Given the description of an element on the screen output the (x, y) to click on. 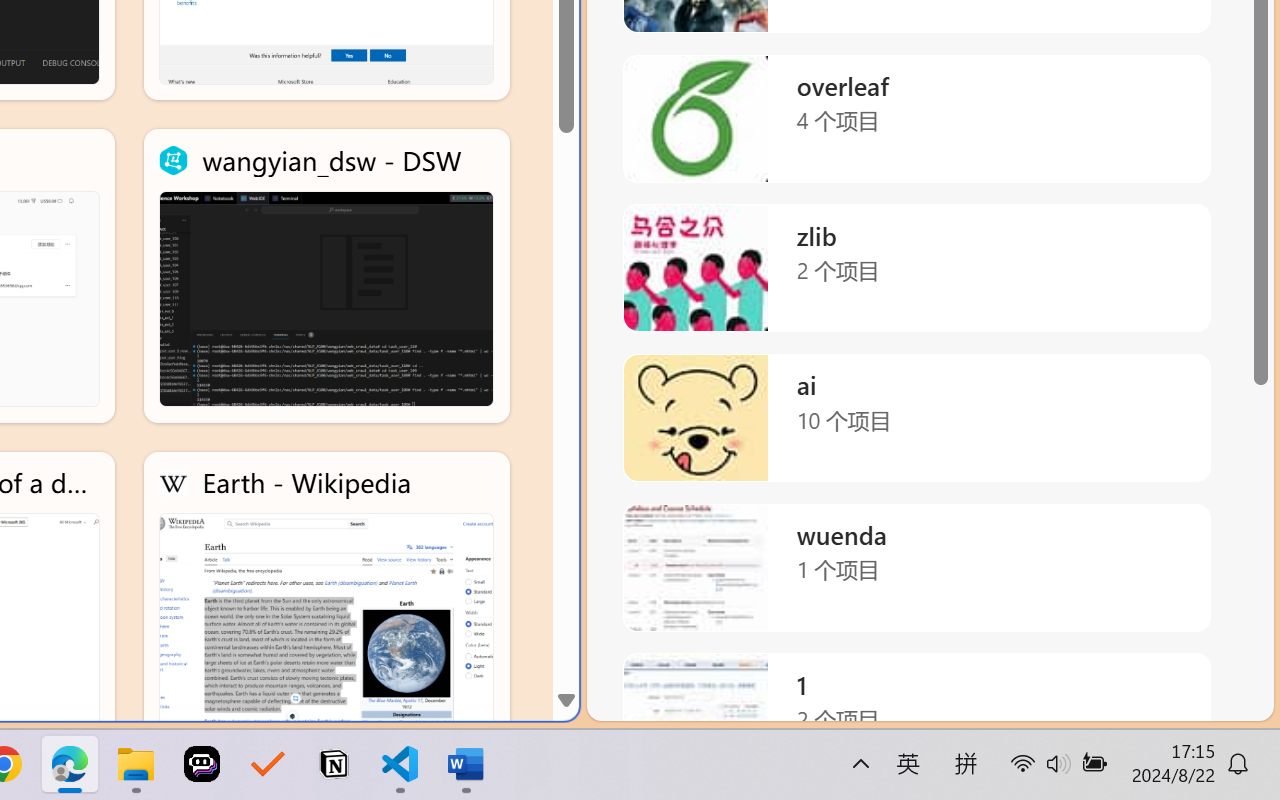
Earth - Wikipedia (326, 598)
wangyian_dsw - DSW (326, 275)
